Given the description of an element on the screen output the (x, y) to click on. 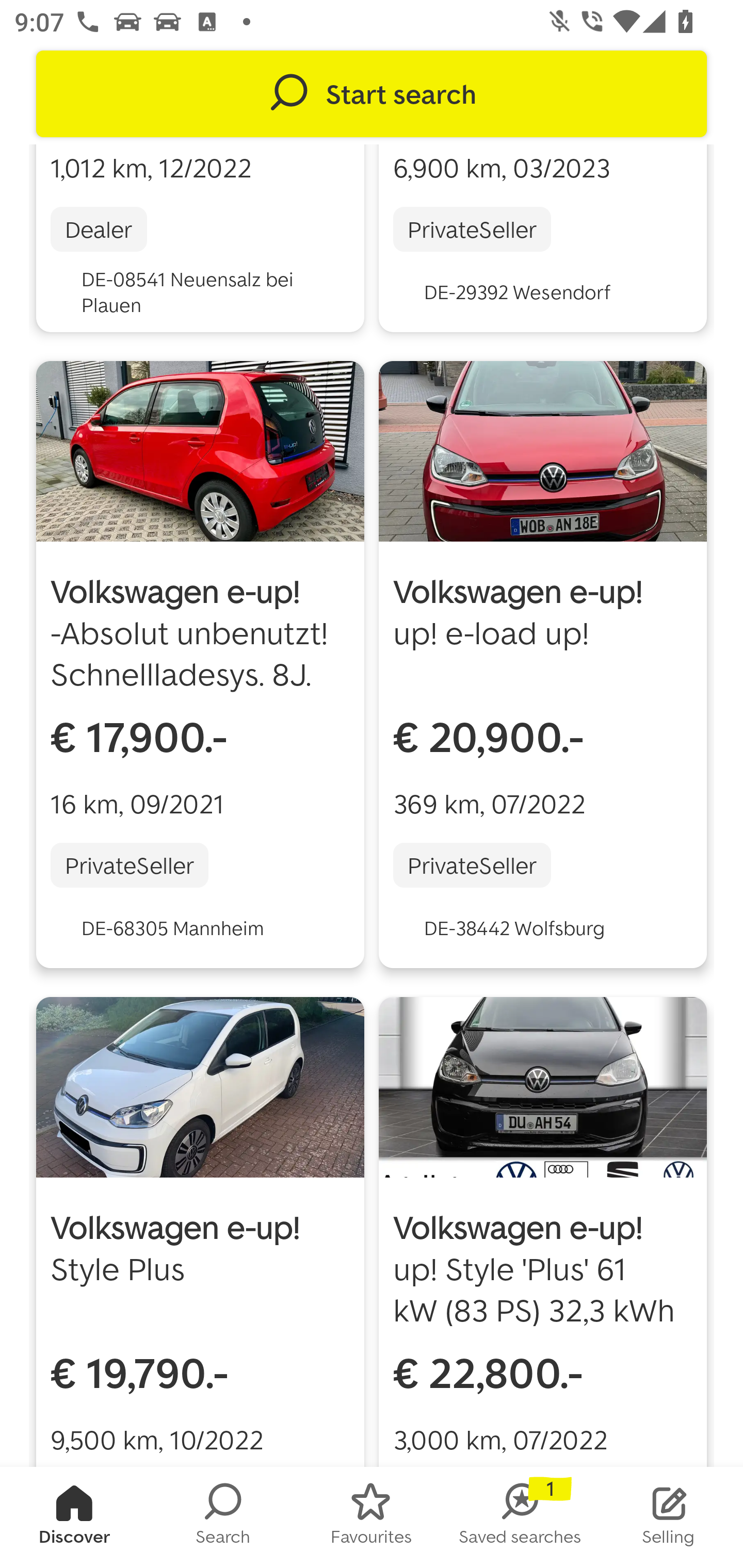
Start search (371, 93)
HOMESCREEN Discover (74, 1517)
SEARCH Search (222, 1517)
FAVORITES Favourites (371, 1517)
SAVED_SEARCHES Saved searches 1 (519, 1517)
STOCK_LIST Selling (668, 1517)
